Given the description of an element on the screen output the (x, y) to click on. 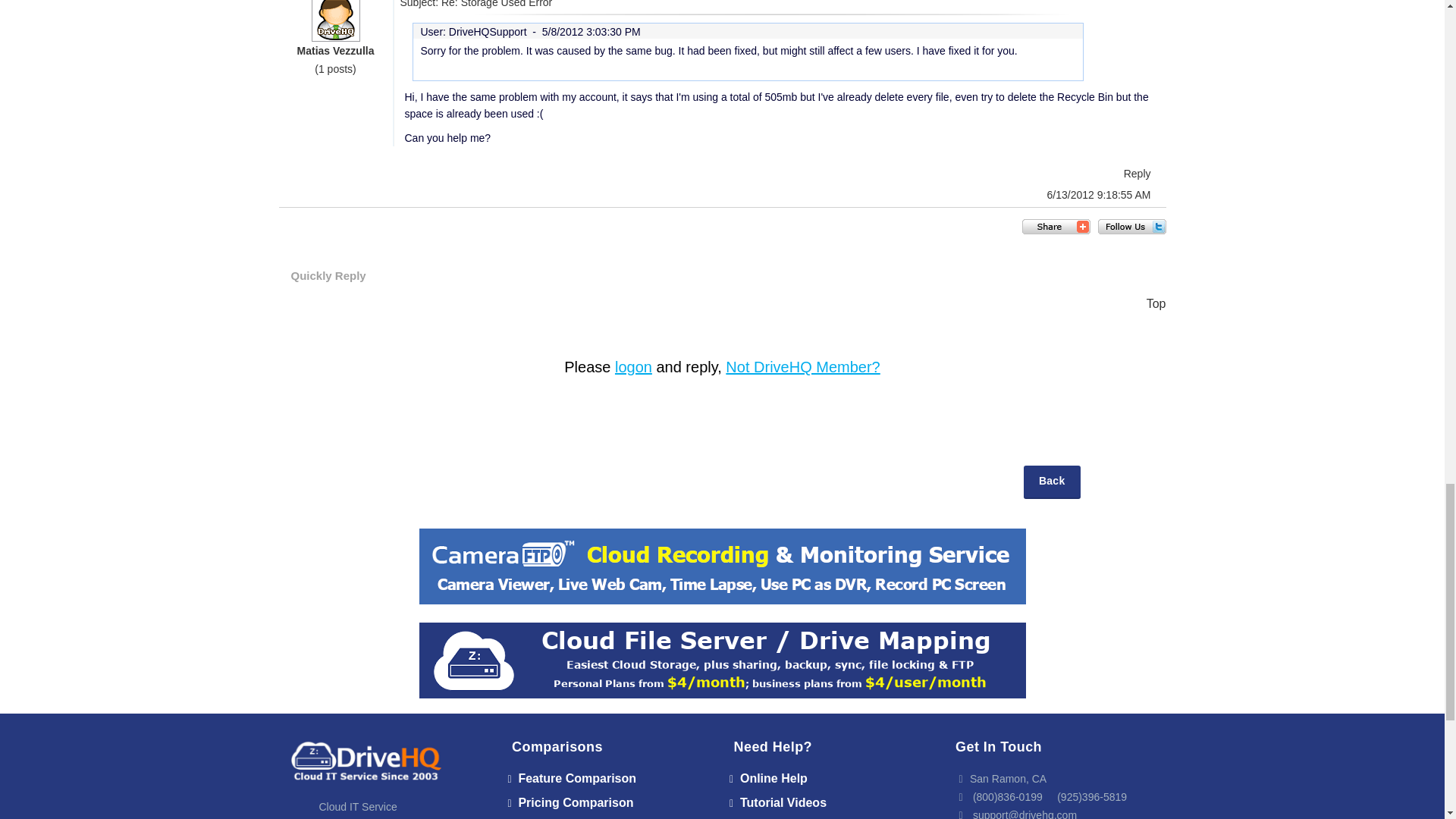
Back (1051, 482)
